Given the description of an element on the screen output the (x, y) to click on. 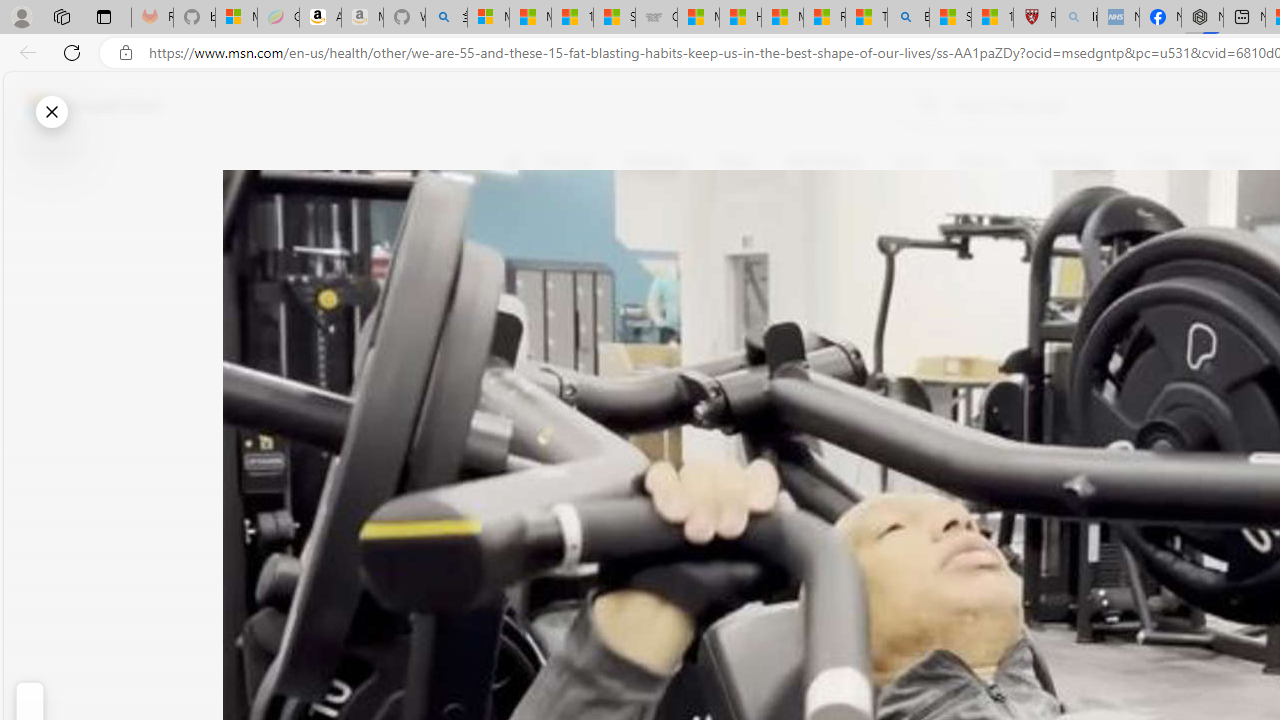
Local (909, 162)
Class: at-item (525, 468)
World News (824, 162)
12 Popular Science Lies that Must be Corrected (991, 17)
Start the conversation (525, 356)
Follow (909, 258)
Science (980, 162)
World News (824, 162)
